Given the description of an element on the screen output the (x, y) to click on. 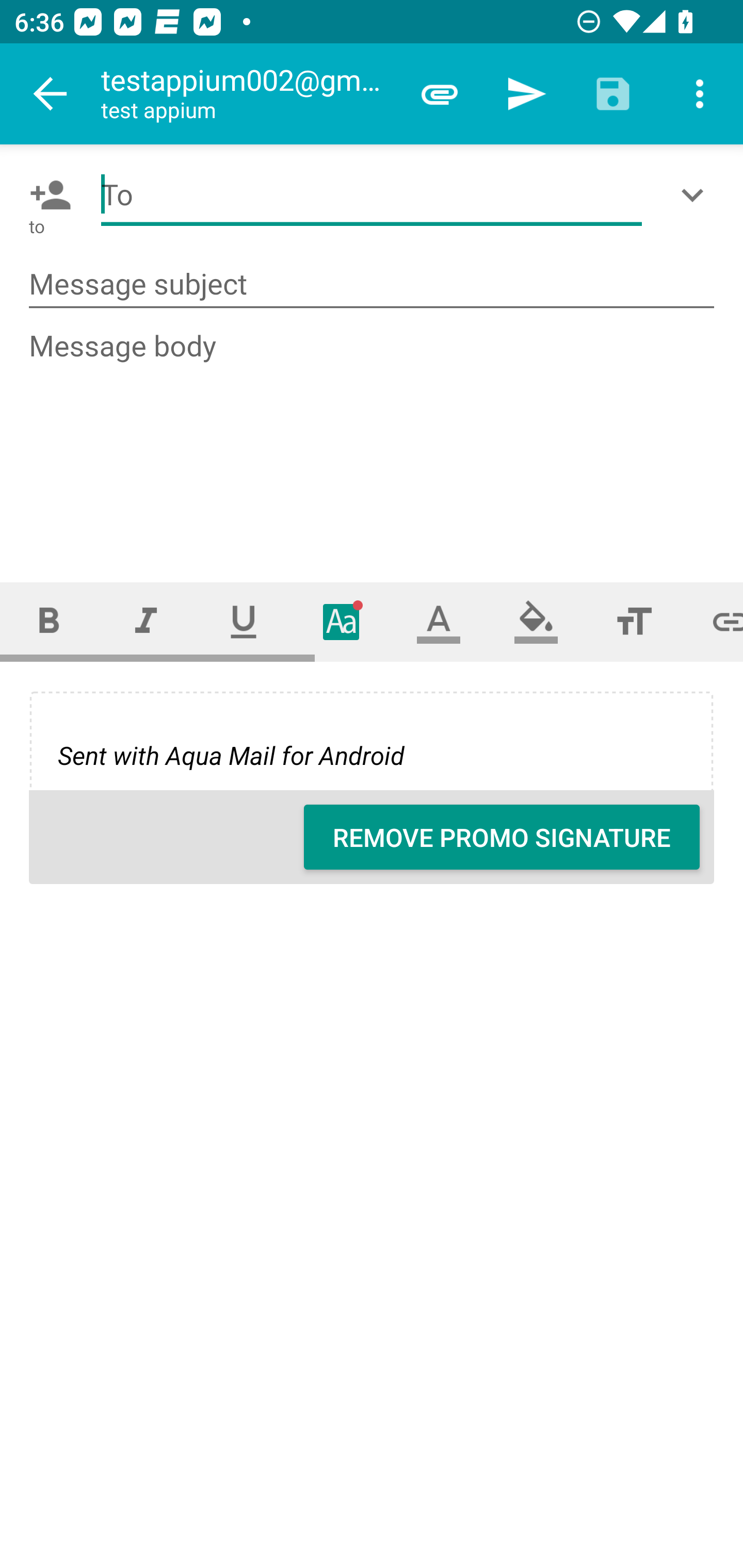
Navigate up (50, 93)
testappium002@gmail.com test appium (248, 93)
Attach (439, 93)
Send (525, 93)
Save (612, 93)
More options (699, 93)
Pick contact: To (46, 195)
Show/Add CC/BCC (696, 195)
To (371, 195)
Message subject (371, 284)
Bold (48, 621)
Italic (145, 621)
Underline (243, 621)
Typeface (font) (341, 621)
Text color (438, 621)
Fill color (536, 621)
Font size (633, 621)
REMOVE PROMO SIGNATURE (501, 837)
